Given the description of an element on the screen output the (x, y) to click on. 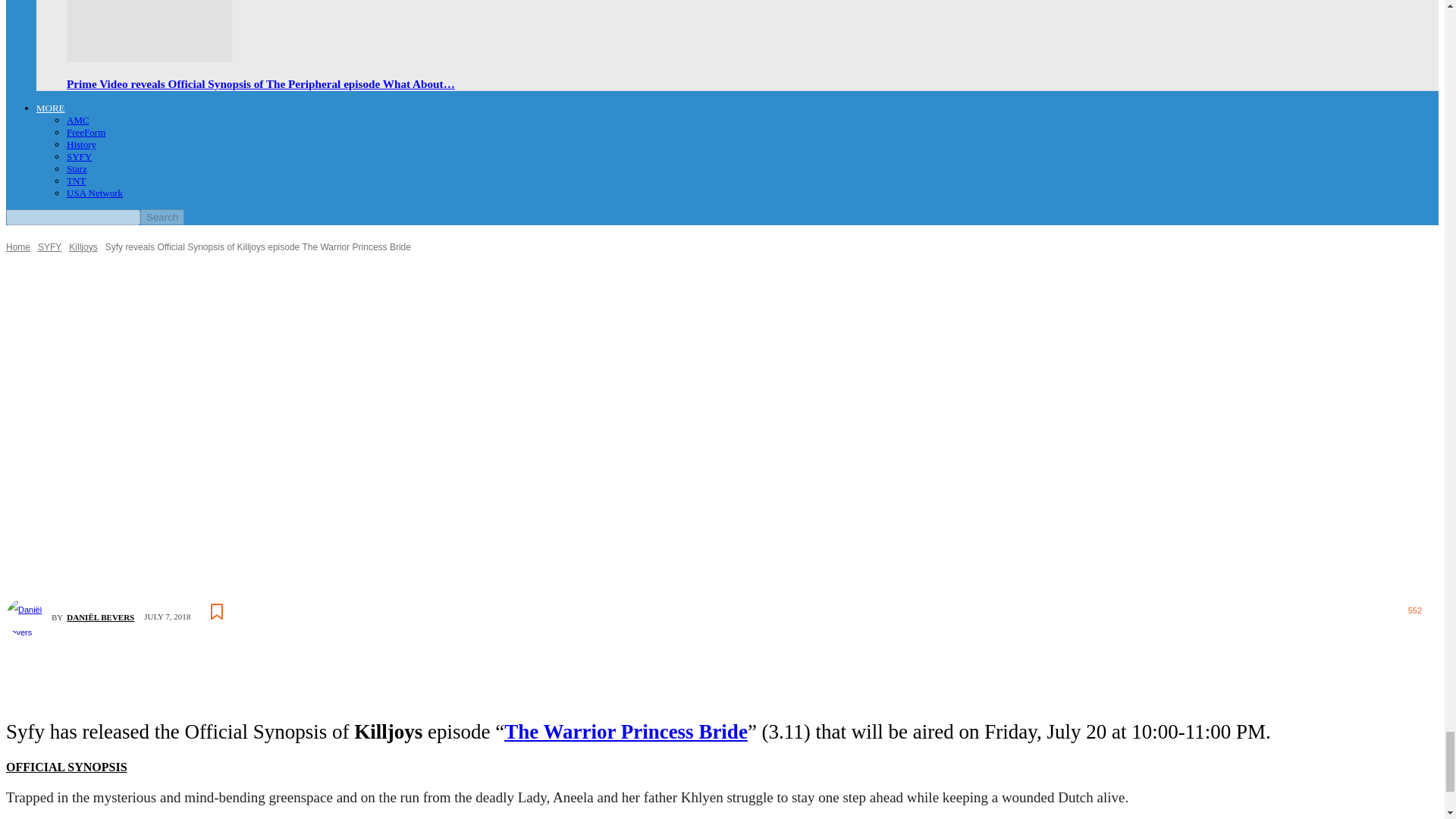
Search (161, 217)
